Given the description of an element on the screen output the (x, y) to click on. 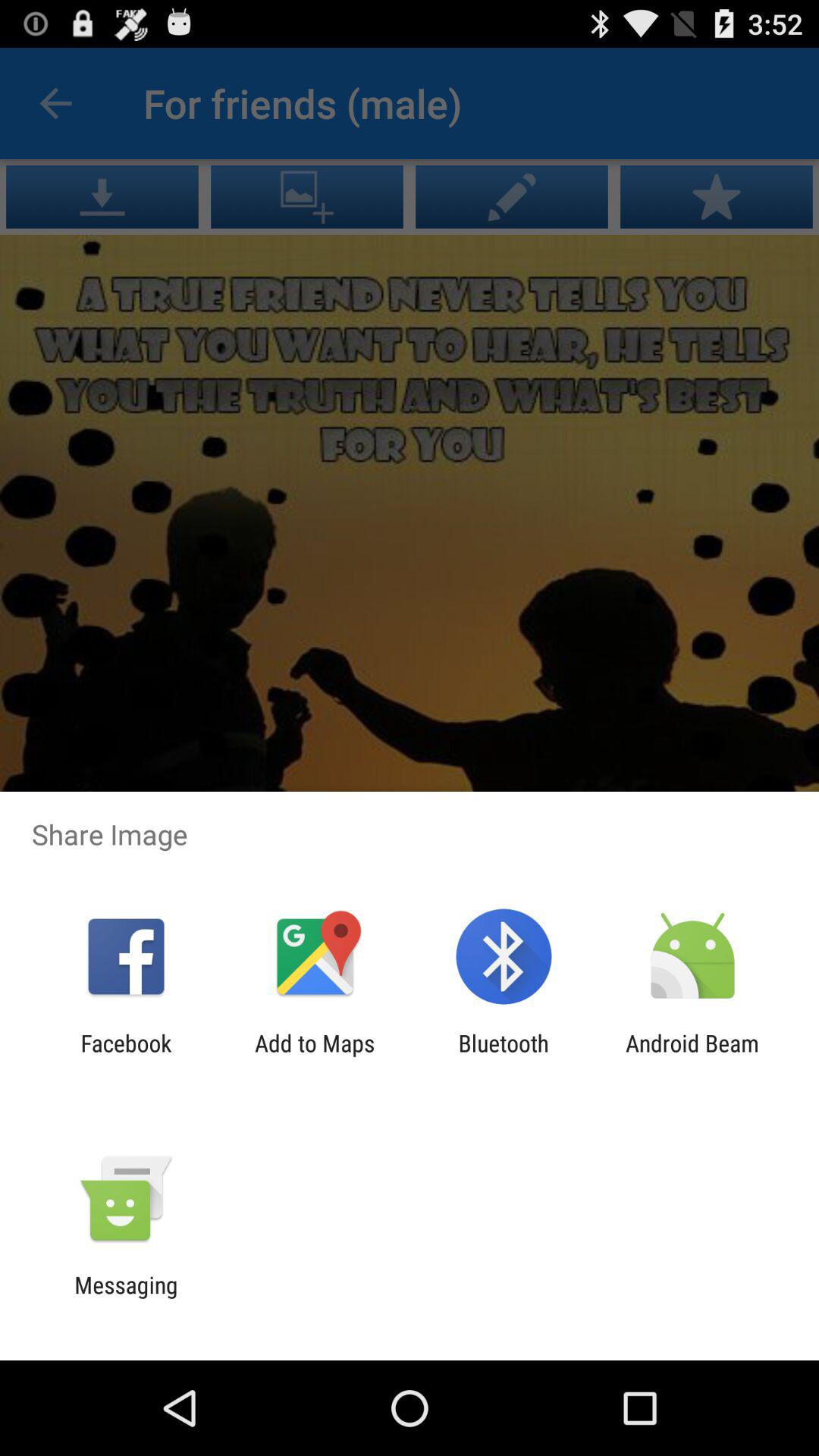
open the icon next to bluetooth item (692, 1056)
